Given the description of an element on the screen output the (x, y) to click on. 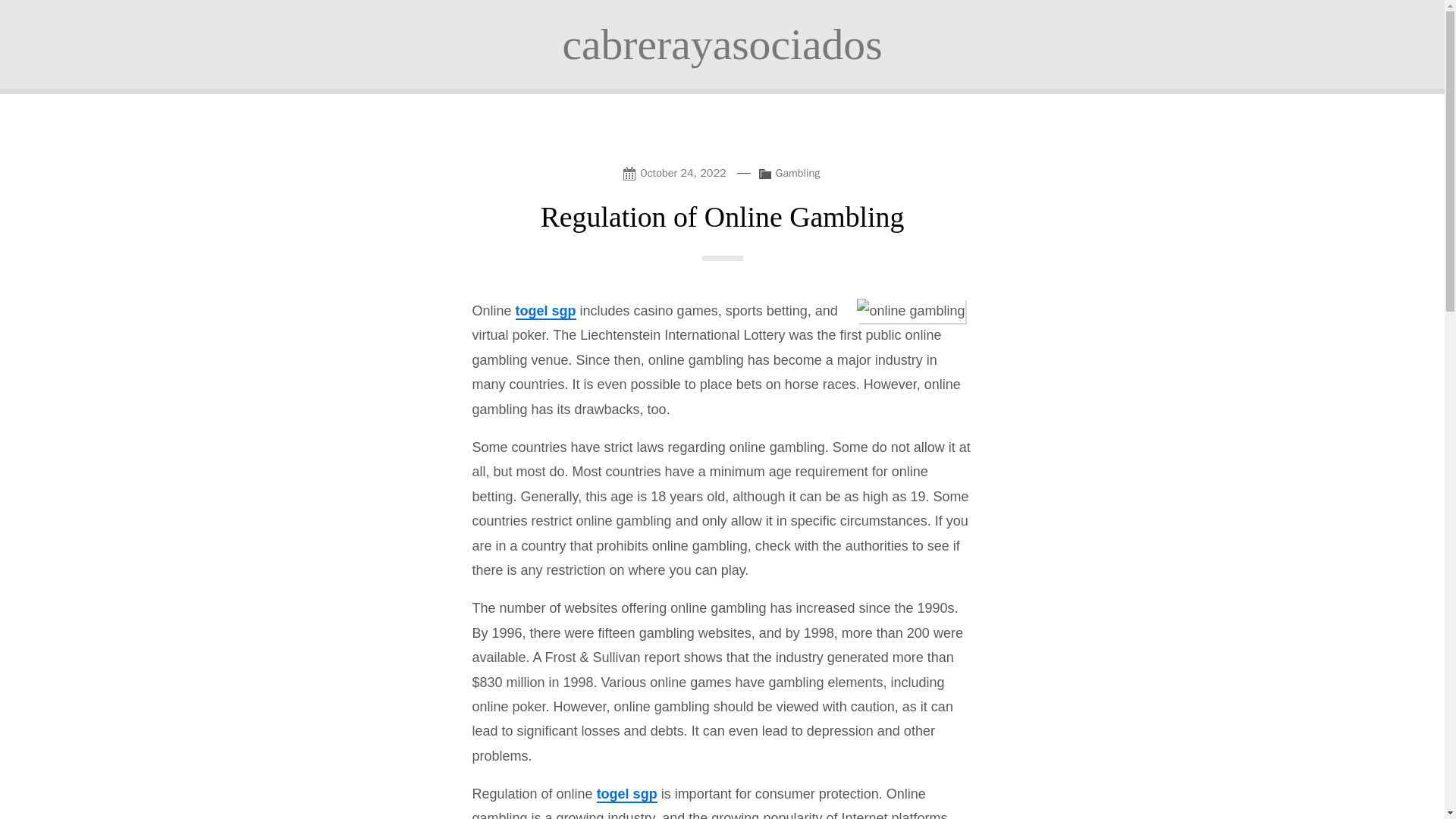
October 24, 2022 (677, 171)
Gambling (798, 172)
togel sgp (545, 311)
cabrerayasociados (722, 43)
togel sgp (627, 794)
Regulation of Online Gambling (722, 216)
